Given the description of an element on the screen output the (x, y) to click on. 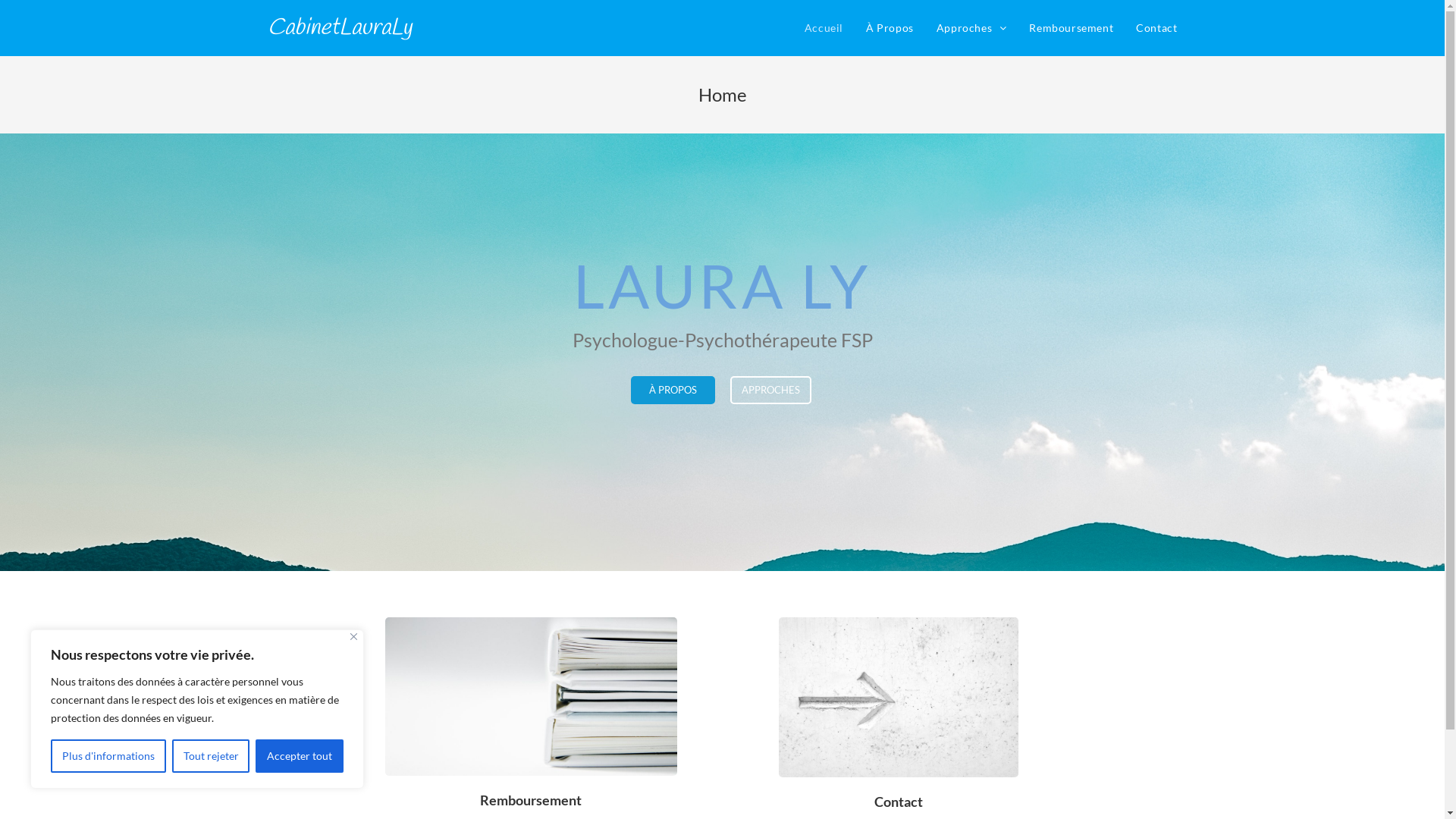
Remboursement Element type: text (1070, 28)
Plus d'informations Element type: text (108, 755)
APPROCHES Element type: text (769, 390)
Approches Element type: text (971, 28)
Accueil Element type: text (823, 28)
CabinetLauraLy Element type: text (338, 27)
Accepter tout Element type: text (299, 755)
Contact Element type: text (1156, 28)
Tout rejeter Element type: text (211, 755)
